Given the description of an element on the screen output the (x, y) to click on. 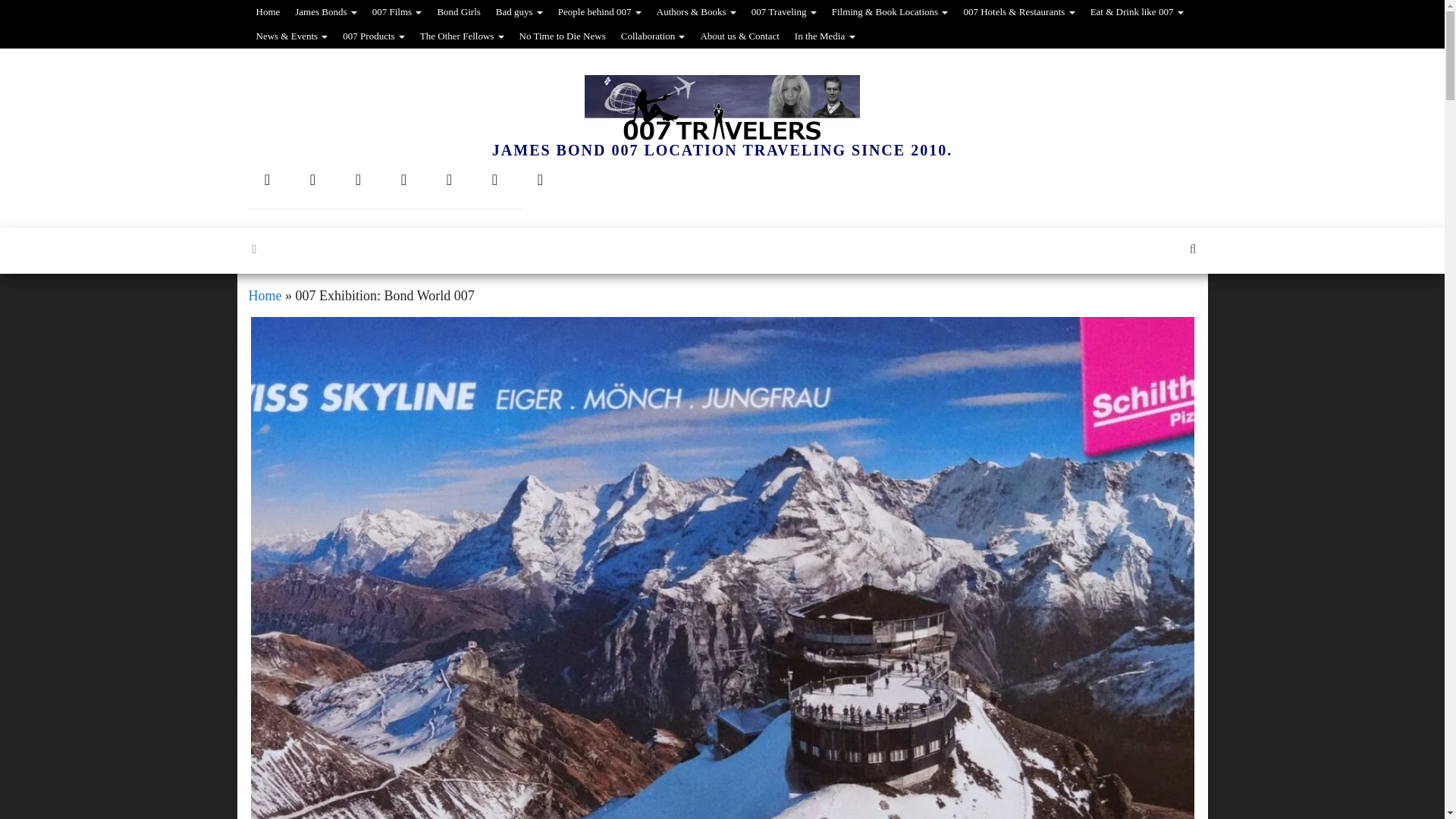
007 Films (397, 12)
Home (268, 12)
Home (268, 12)
007 Films (397, 12)
James Bonds (325, 12)
James Bonds (325, 12)
